Given the description of an element on the screen output the (x, y) to click on. 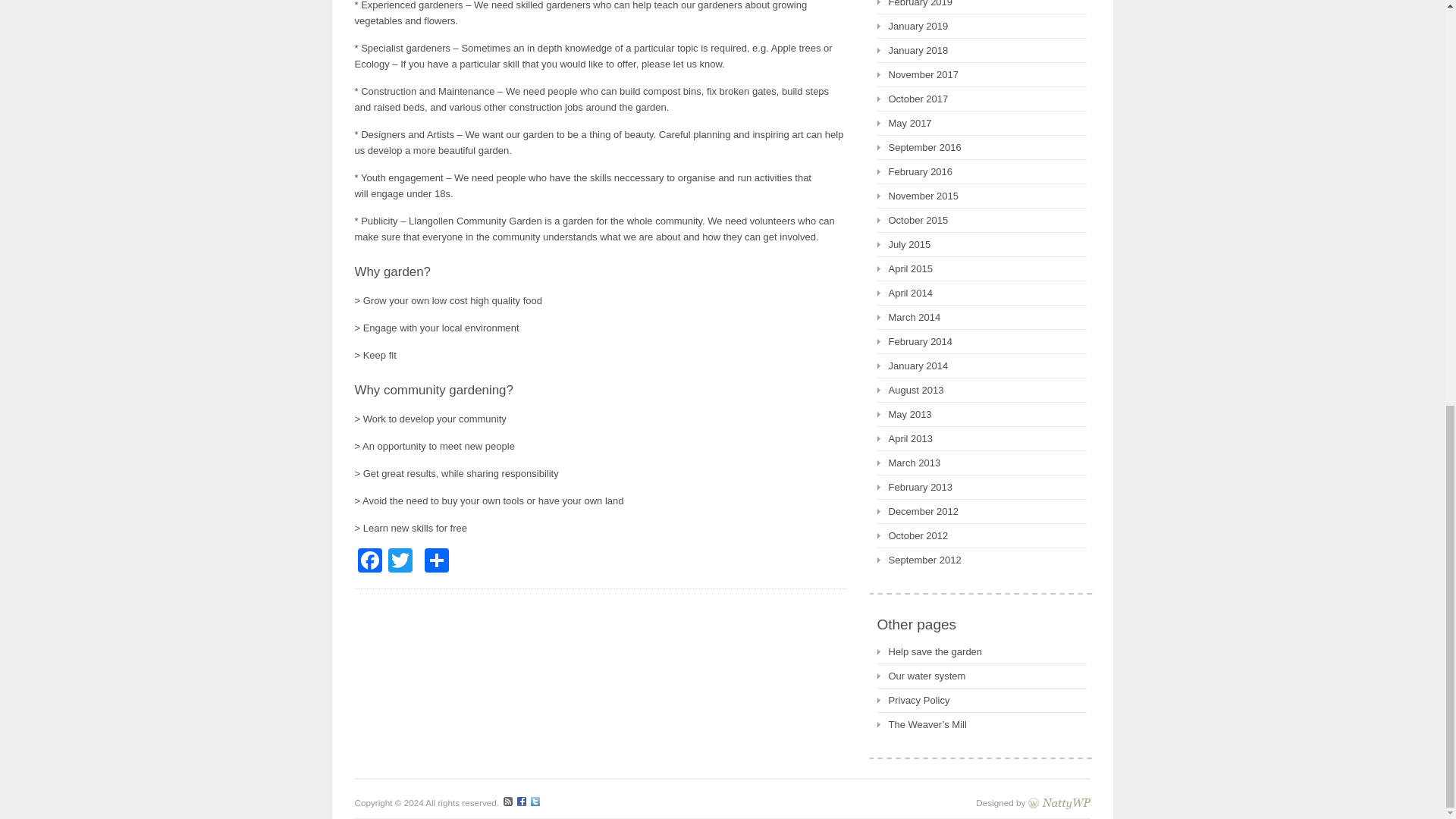
Facebook (370, 561)
July 2015 (903, 244)
Share (436, 561)
November 2015 (917, 195)
Twitter (399, 561)
February 2016 (914, 171)
Facebook (370, 561)
NattyWP (1058, 802)
February 2019 (914, 5)
Twitter (399, 561)
October 2015 (911, 220)
October 2017 (911, 98)
November 2017 (917, 74)
April 2015 (904, 268)
January 2018 (911, 49)
